Given the description of an element on the screen output the (x, y) to click on. 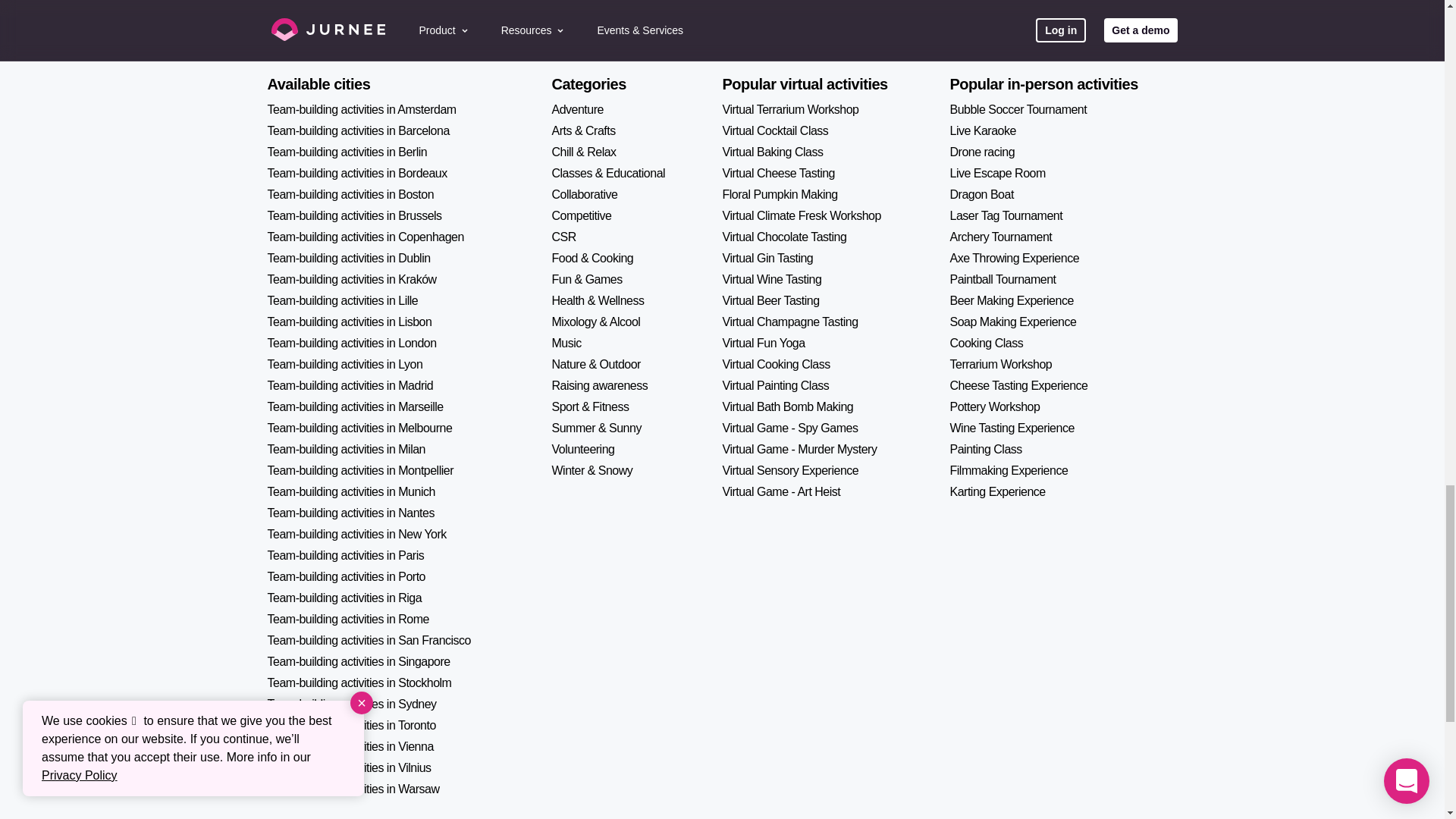
Team-building activities in Bordeaux (356, 173)
Team-building activities in Dublin (347, 257)
Team-building activities in Brussels (353, 215)
Team-building activities in Copenhagen (364, 236)
Team-building activities in Berlin (346, 151)
Team-building activities in Amsterdam (360, 109)
Team-building activities in Boston (349, 194)
Team-building activities in Barcelona (357, 130)
